Given the description of an element on the screen output the (x, y) to click on. 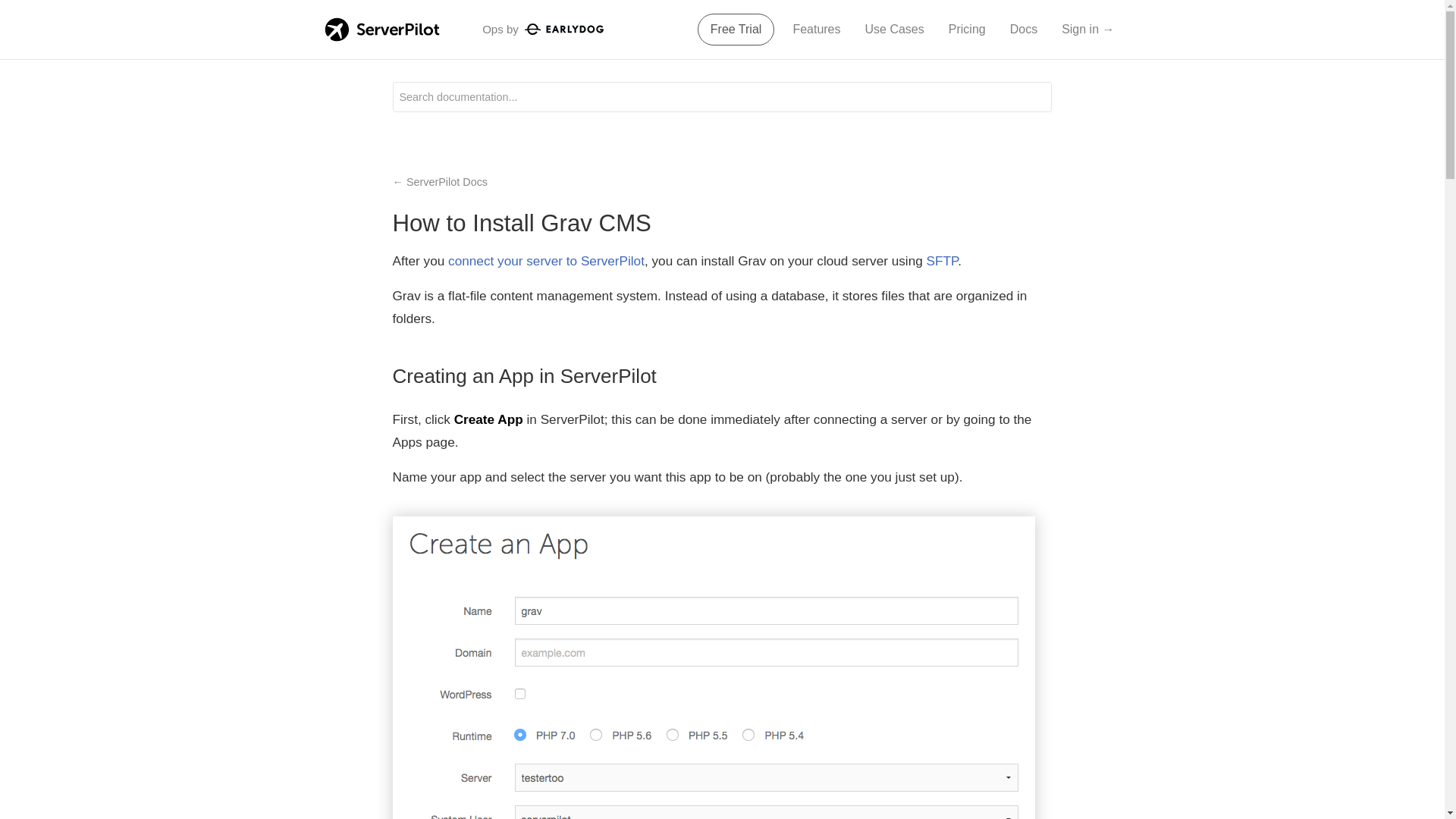
Use Cases (894, 29)
Docs (1023, 29)
connect your server to ServerPilot (546, 260)
Ops by (543, 28)
Features (815, 29)
Free Trial (735, 29)
Pricing (966, 29)
SFTP (942, 260)
